Given the description of an element on the screen output the (x, y) to click on. 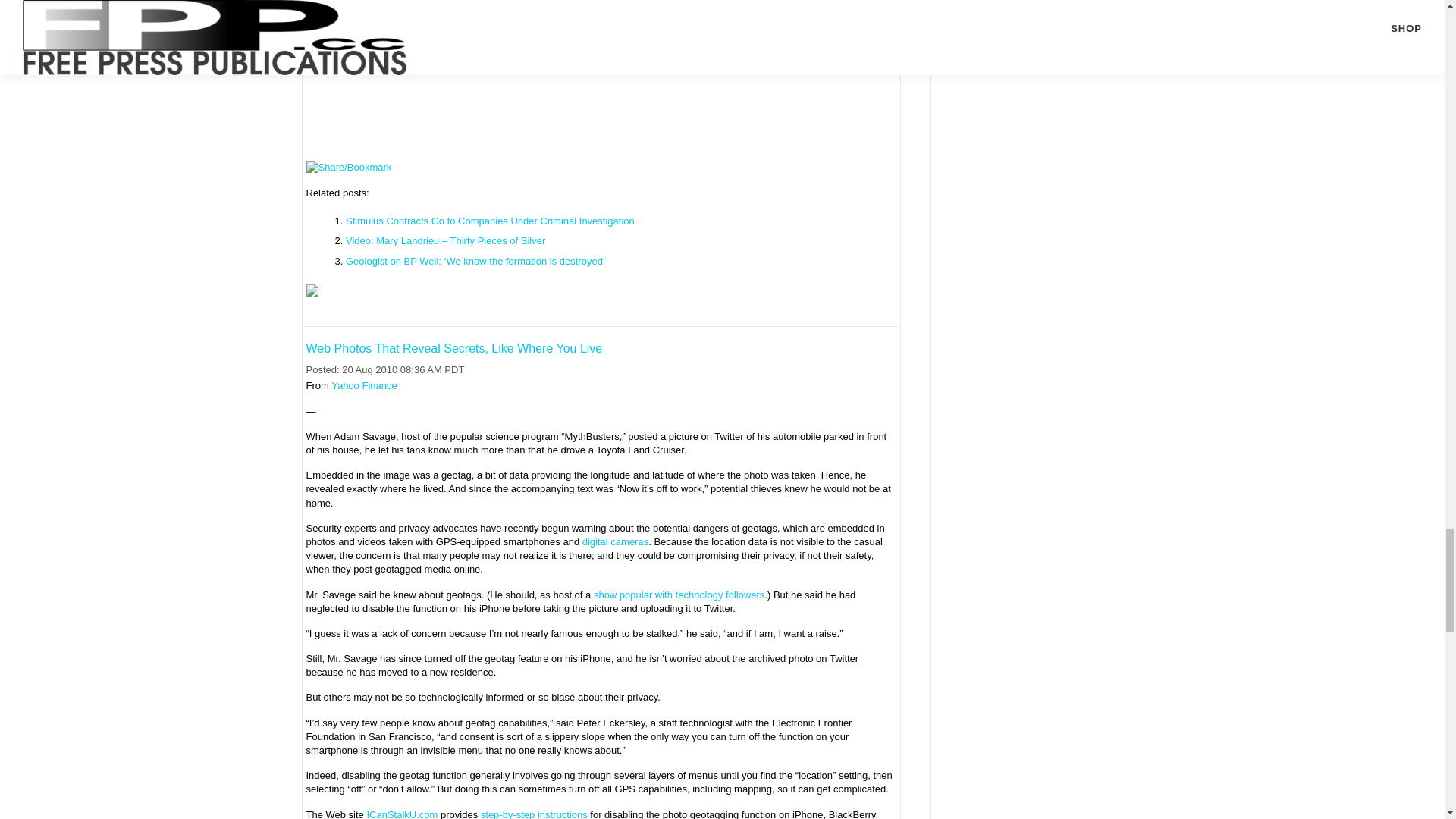
digital cameras (614, 541)
ICanStalkU.com (402, 814)
Web Photos That Reveal Secrets, Like Where You Live (453, 348)
show popular with technology followers (679, 594)
Yahoo Finance (364, 385)
Permanent Link: Geologist on BP Well:  (475, 260)
